Given the description of an element on the screen output the (x, y) to click on. 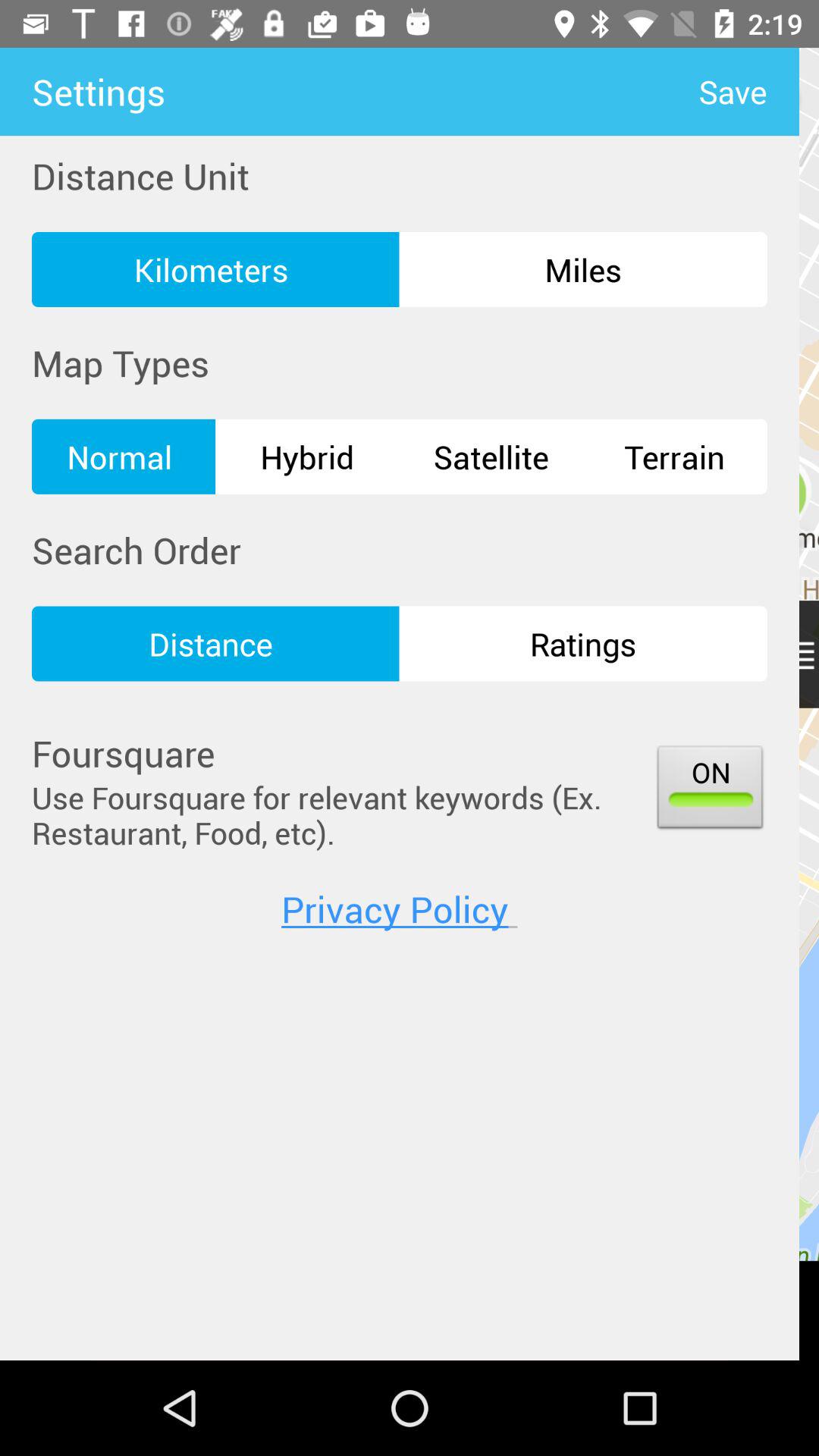
swipe to hybrid (307, 456)
